Given the description of an element on the screen output the (x, y) to click on. 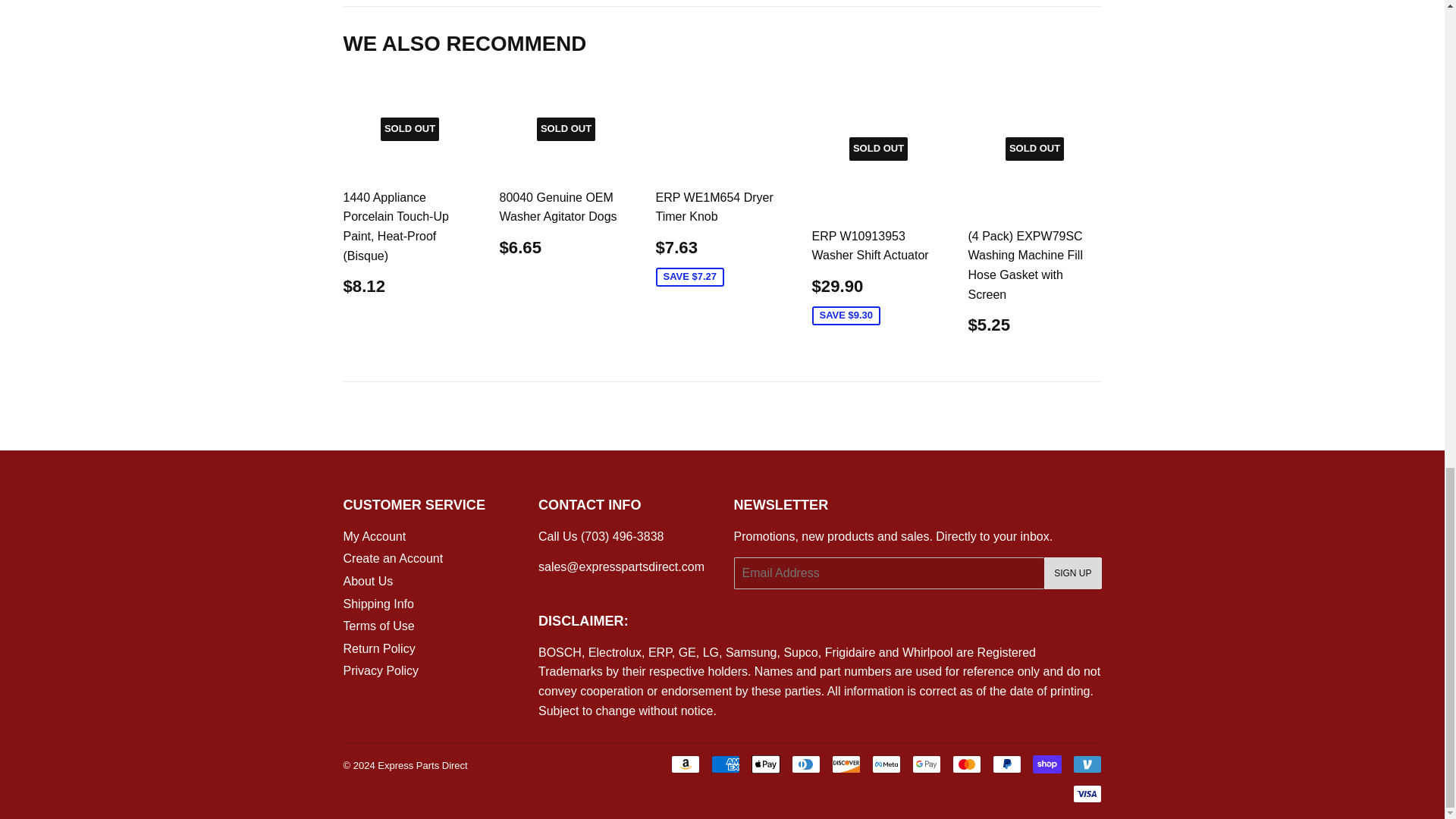
Venmo (1085, 764)
PayPal (1005, 764)
American Express (725, 764)
Google Pay (925, 764)
Mastercard (966, 764)
Apple Pay (764, 764)
Visa (1085, 793)
Amazon (683, 764)
Discover (845, 764)
Shop Pay (1046, 764)
